Given the description of an element on the screen output the (x, y) to click on. 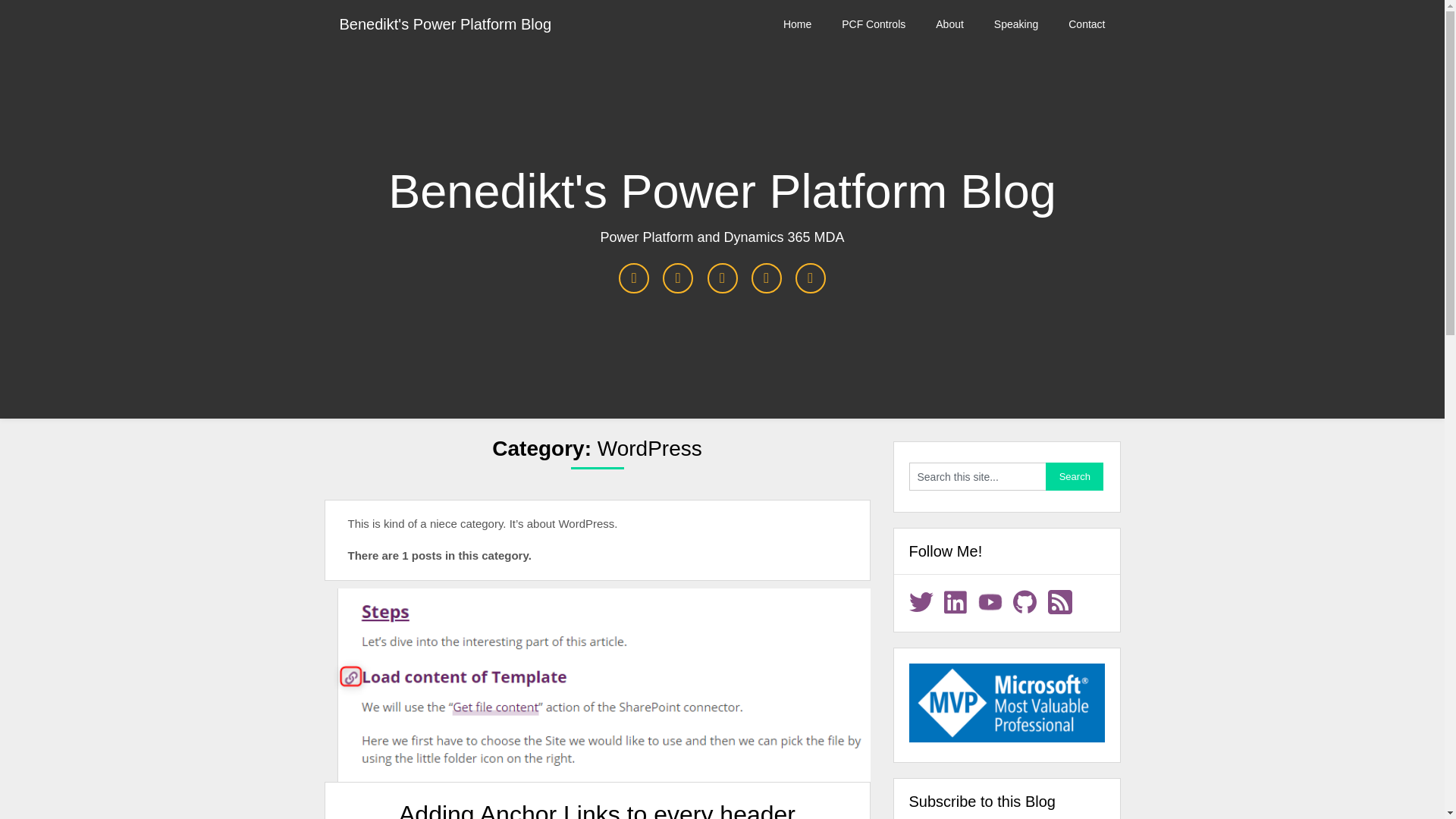
Follow Me on Github (1024, 601)
Contact (1085, 24)
Search (1074, 476)
Adding Anchor Links to every header (596, 809)
Home (797, 24)
Follow Me on Twitter (920, 601)
Search this site... (976, 476)
Benedikt's Power Platform Blog (445, 24)
Follow Me on LinkedIn (955, 601)
About (949, 24)
Search (1074, 476)
Adding Anchor Links to every header (597, 685)
Follow Me on RSS (1059, 601)
Speaking (1015, 24)
Follow Me on YouTube (990, 601)
